Given the description of an element on the screen output the (x, y) to click on. 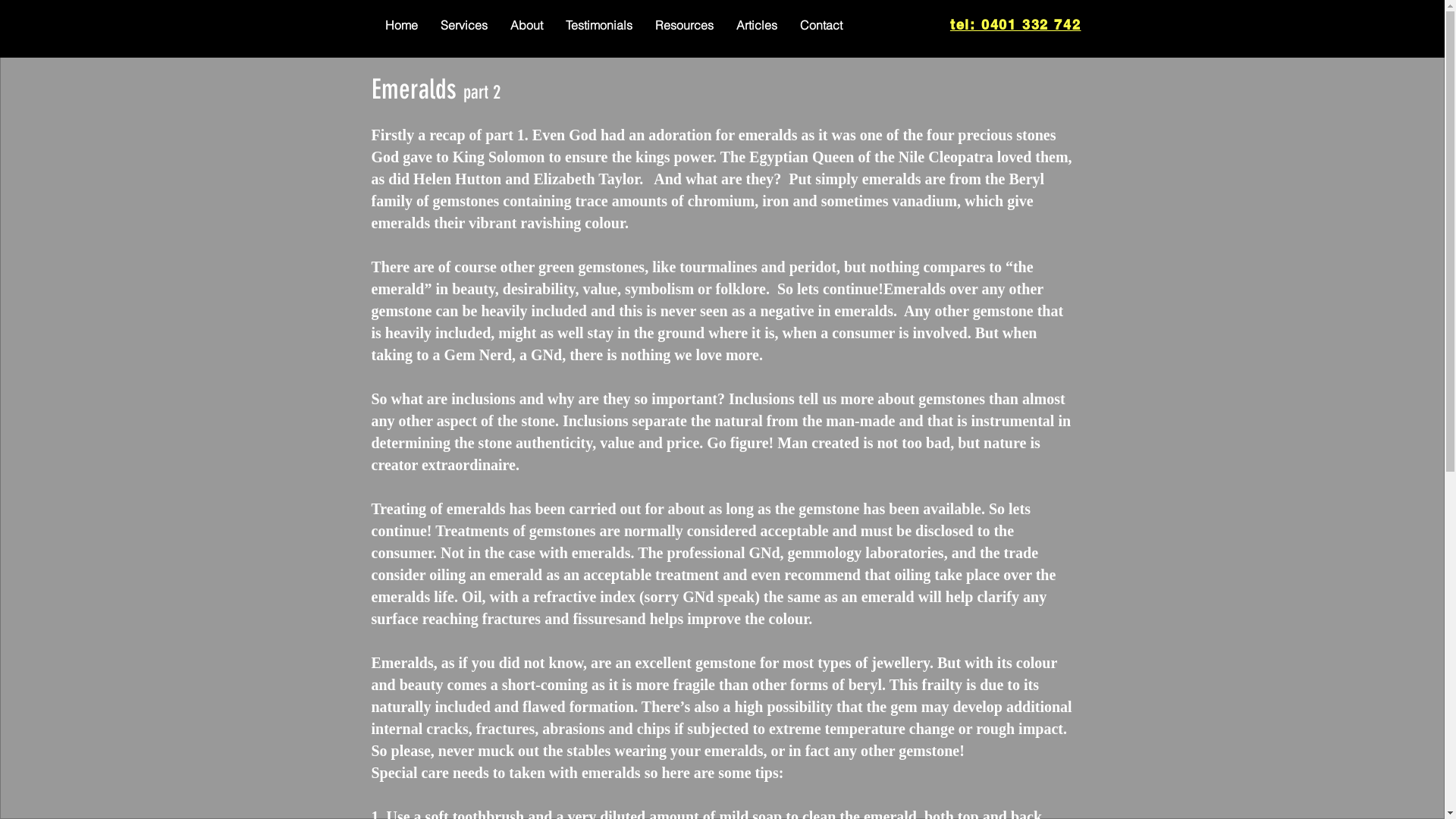
Articles Element type: text (756, 24)
Resources Element type: text (683, 24)
tel: 0401 332 742 Element type: text (1015, 24)
Contact Element type: text (820, 24)
Home Element type: text (400, 24)
Services Element type: text (463, 24)
Testimonials Element type: text (598, 24)
About Element type: text (526, 24)
